Given the description of an element on the screen output the (x, y) to click on. 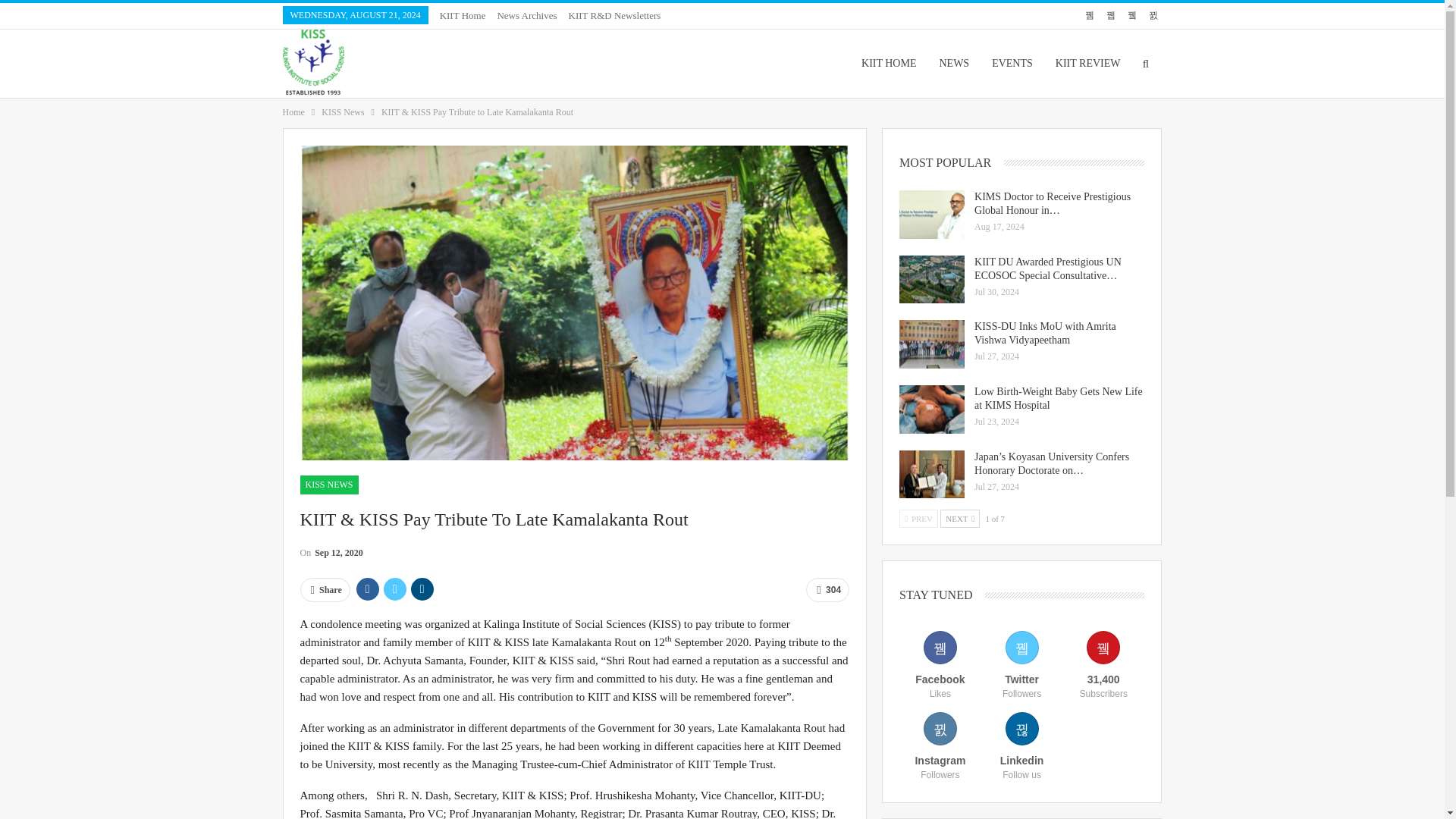
News Archives (526, 15)
KISS News (342, 112)
KIIT REVIEW (1087, 63)
EVENTS (1011, 63)
Home (293, 112)
KISS-DU Inks MoU with Amrita Vishwa Vidyapeetham (931, 344)
KIIT Home (462, 15)
KIIT HOME (888, 63)
